Given the description of an element on the screen output the (x, y) to click on. 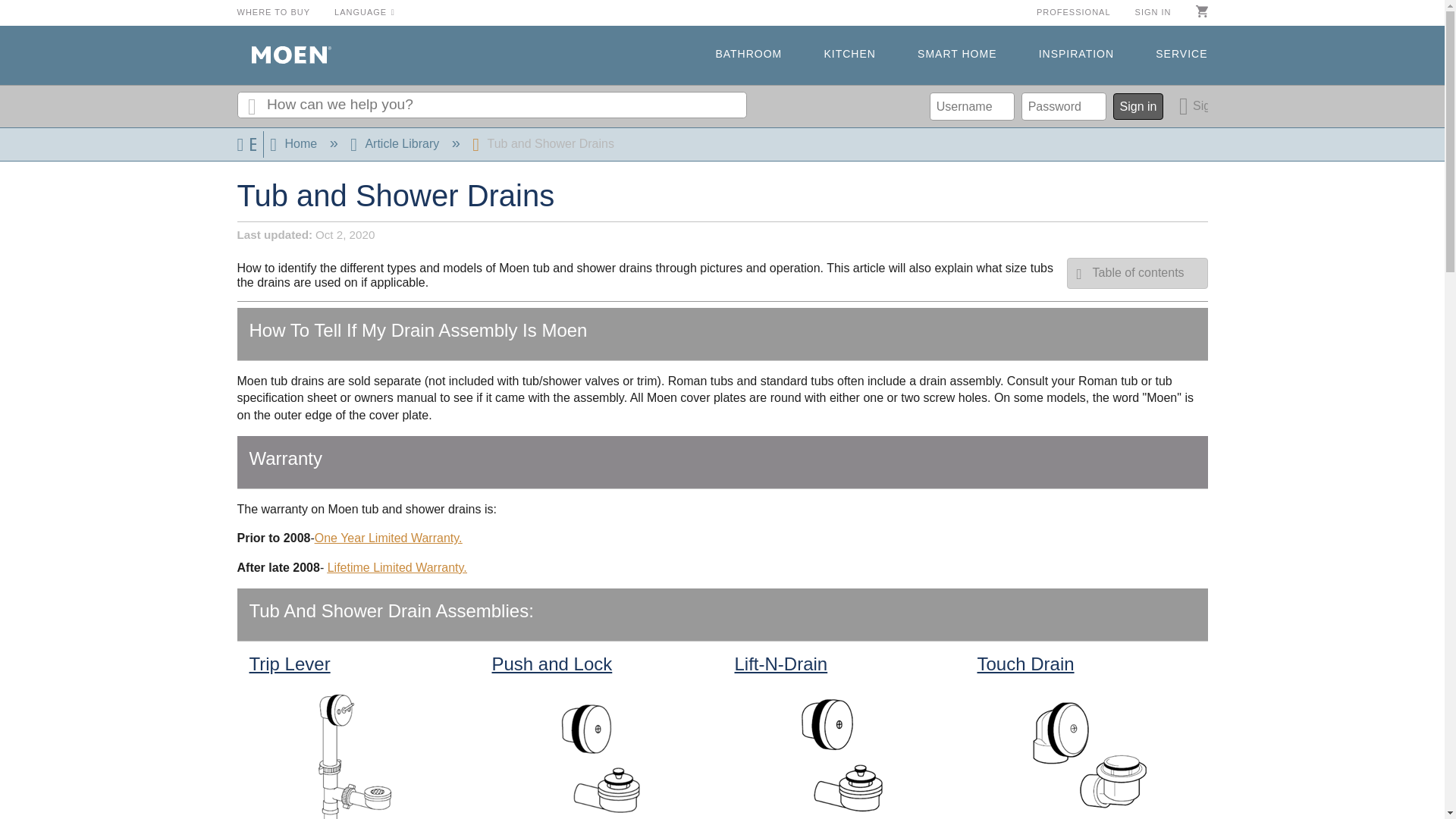
Article Library (396, 143)
Table of contents (1137, 272)
SMART HOME (956, 55)
PROFESSIONAL (1073, 11)
Home (294, 143)
BATHROOM (747, 55)
LANGUAGE (364, 11)
Sign in (1138, 106)
Search (250, 104)
Sign in (1193, 105)
INSPIRATION (1076, 55)
SIGN IN (1153, 11)
WHERE TO BUY (272, 11)
SERVICE (1181, 55)
KITCHEN (849, 55)
